Given the description of an element on the screen output the (x, y) to click on. 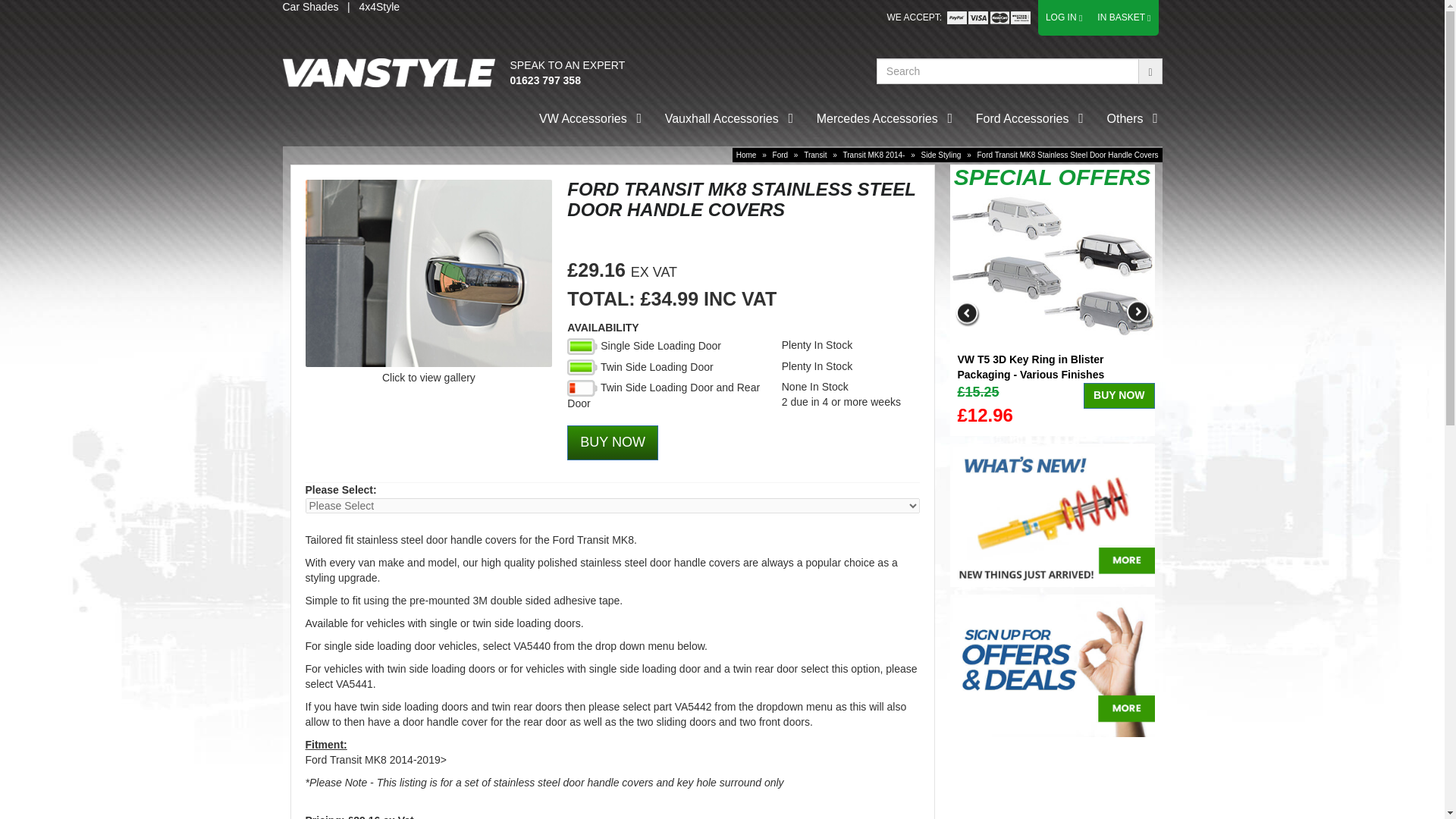
Currently None In Stock (581, 388)
 VW T5 3D Key Ring in Blister Packaging - Various Finishes  (1051, 266)
Ford Accessories (1021, 119)
Car Shades (309, 6)
4x4Style (378, 6)
01623 797 358 (544, 80)
 Language  (988, 17)
Plenty In Stock Now (581, 346)
 Ford Transit MK8 Stainless Steel Door Handle Covers  (427, 272)
IN BASKET (1122, 17)
